Given the description of an element on the screen output the (x, y) to click on. 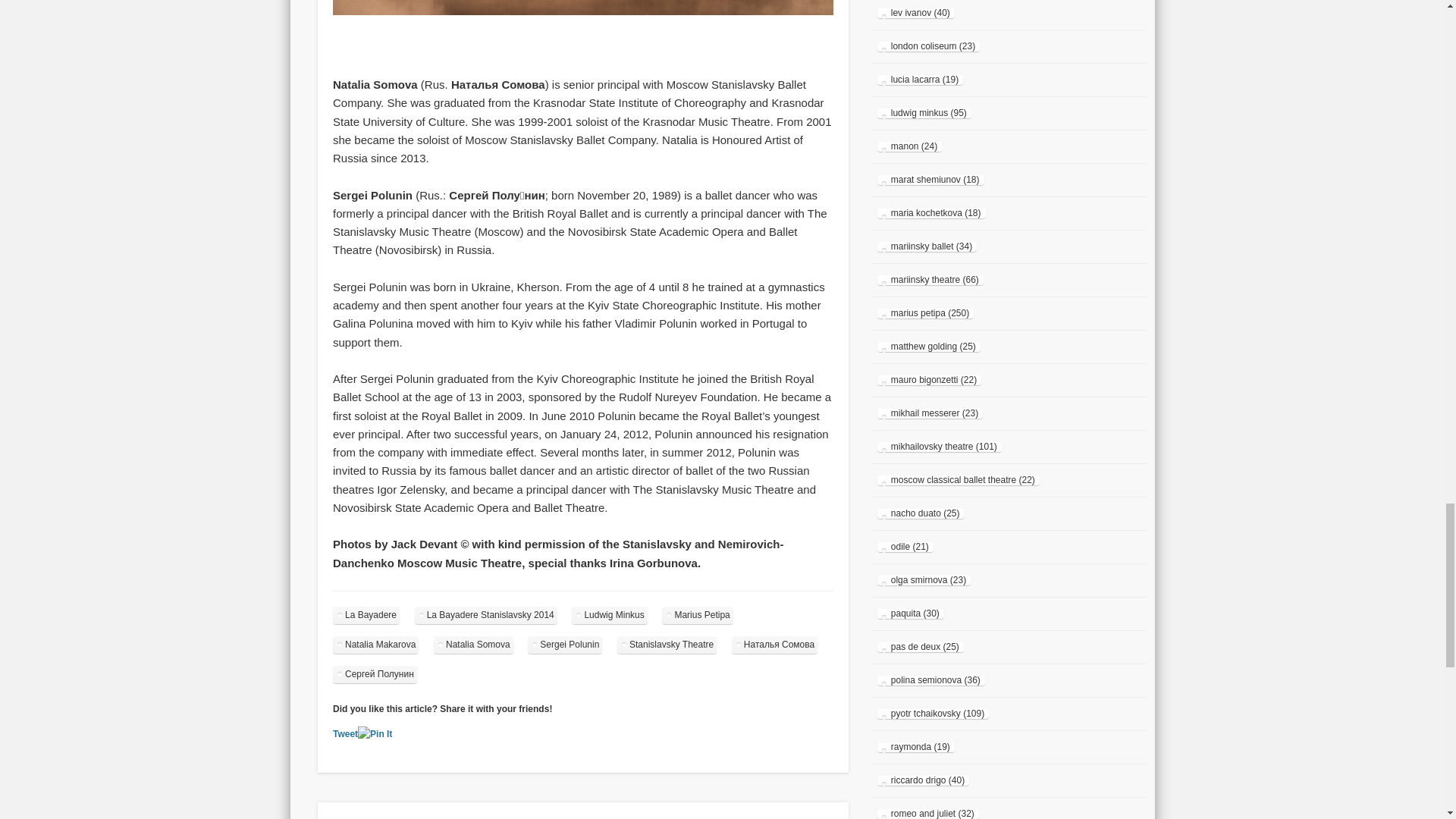
Natalia Somova (473, 644)
Stanislavsky Theatre (666, 644)
Marius Petipa (697, 615)
La Bayadere (365, 615)
Pin It (374, 734)
Ludwig Minkus (609, 615)
La Bayadere Stanislavsky 2014 (485, 615)
Tweet (345, 733)
Sergei Polunin (564, 644)
Natalia Makarova (376, 644)
